Given the description of an element on the screen output the (x, y) to click on. 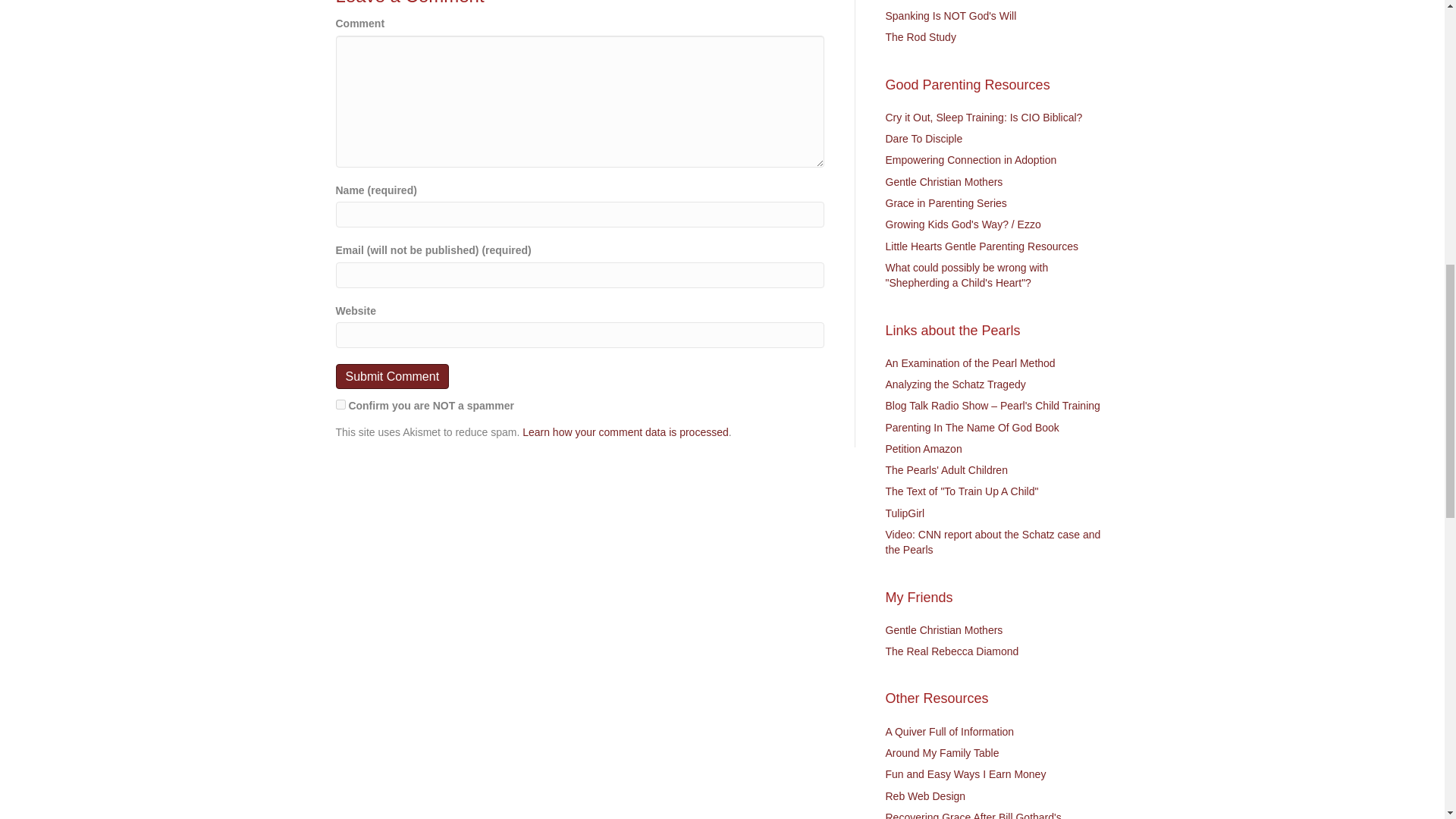
Submit Comment (391, 376)
on (339, 404)
